Given the description of an element on the screen output the (x, y) to click on. 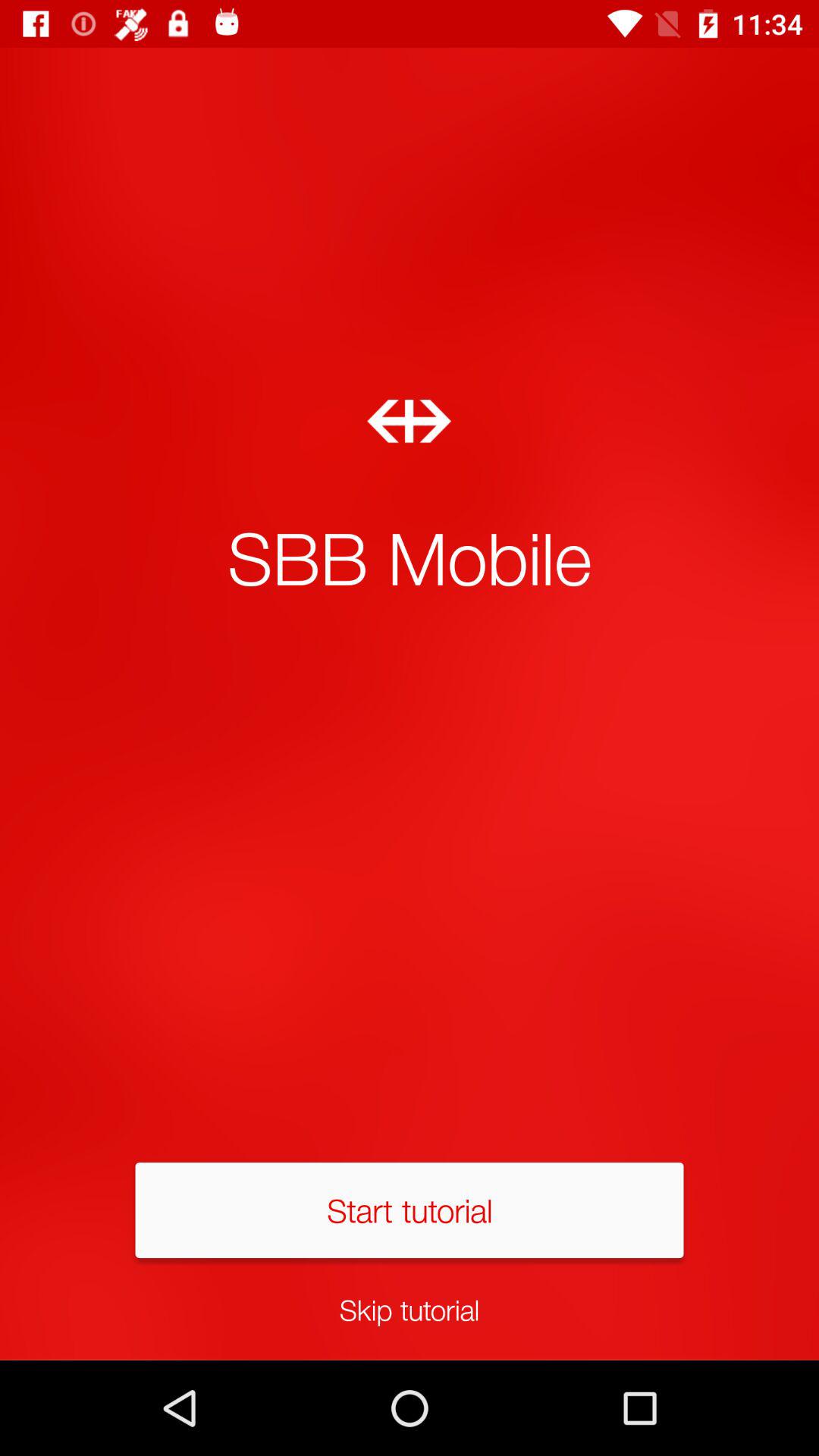
turn on the icon above the skip tutorial icon (409, 1210)
